Given the description of an element on the screen output the (x, y) to click on. 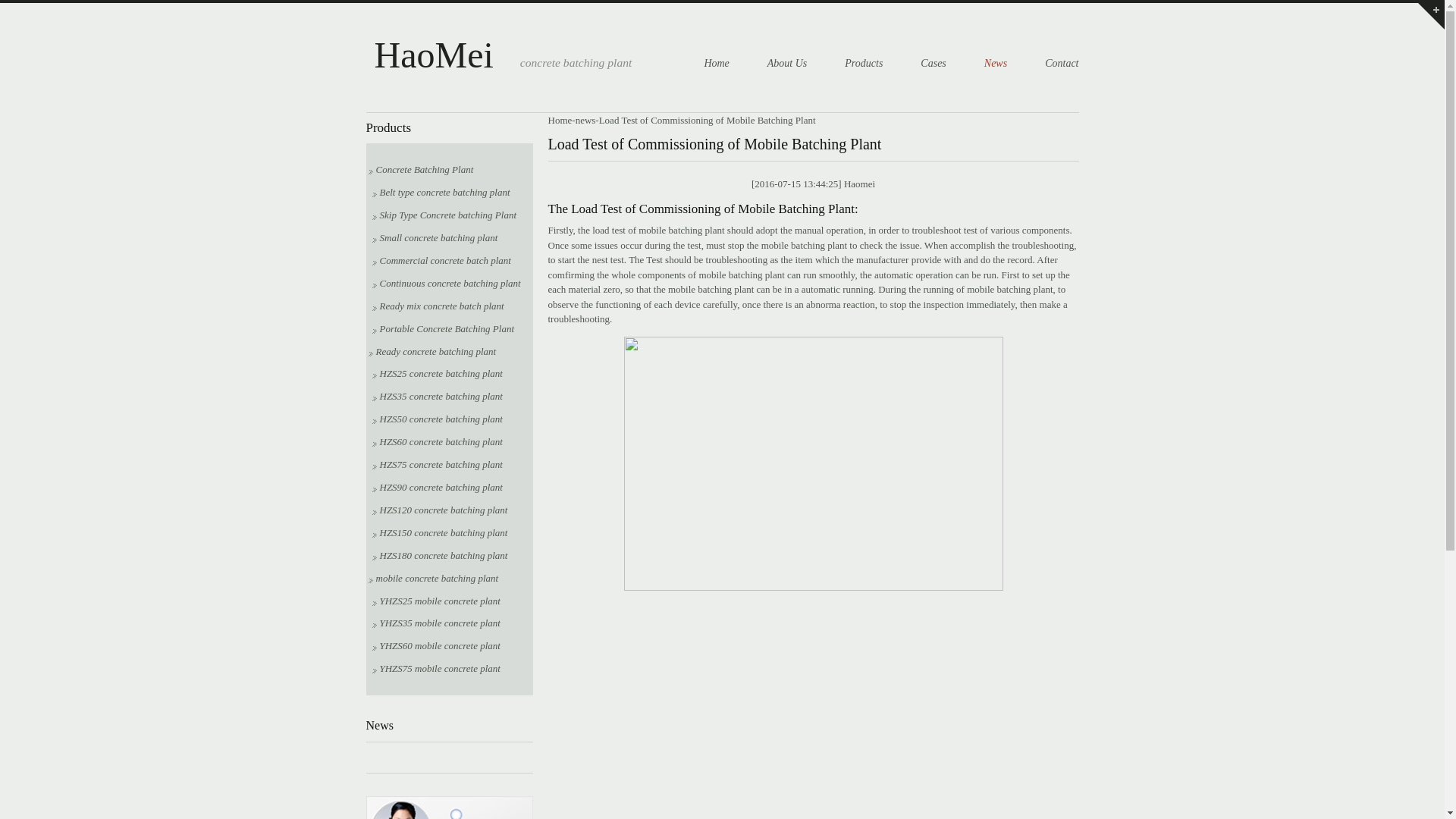
Cases (932, 62)
Concrete Batching Plant (421, 169)
Portable Concrete Batching Plant (442, 328)
HZS90 concrete batching plant (436, 487)
HZS75 concrete batching plant (436, 464)
HZS35 concrete batching plant (436, 396)
About Us (787, 62)
YHZS35 mobile concrete plant (435, 622)
YHZS60 mobile concrete plant (435, 645)
Continuous concrete batching plant (445, 283)
